Given the description of an element on the screen output the (x, y) to click on. 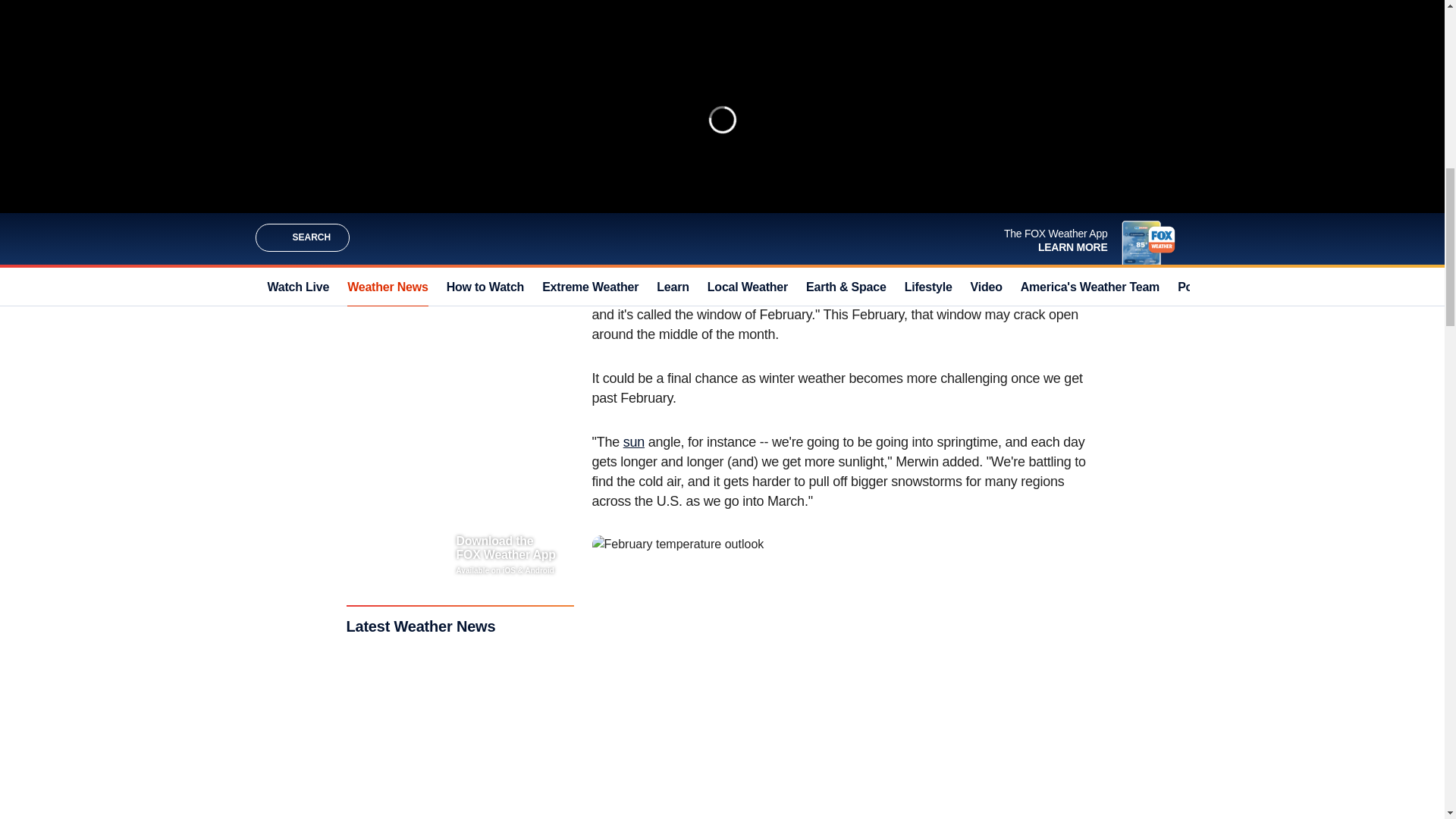
sun (634, 441)
Science vs. legend: The science behind late winter weather (745, 67)
spring (982, 186)
winter (826, 186)
Punxsutawney Phil (1012, 167)
NOAA's seasonal prediction (798, 167)
